Given the description of an element on the screen output the (x, y) to click on. 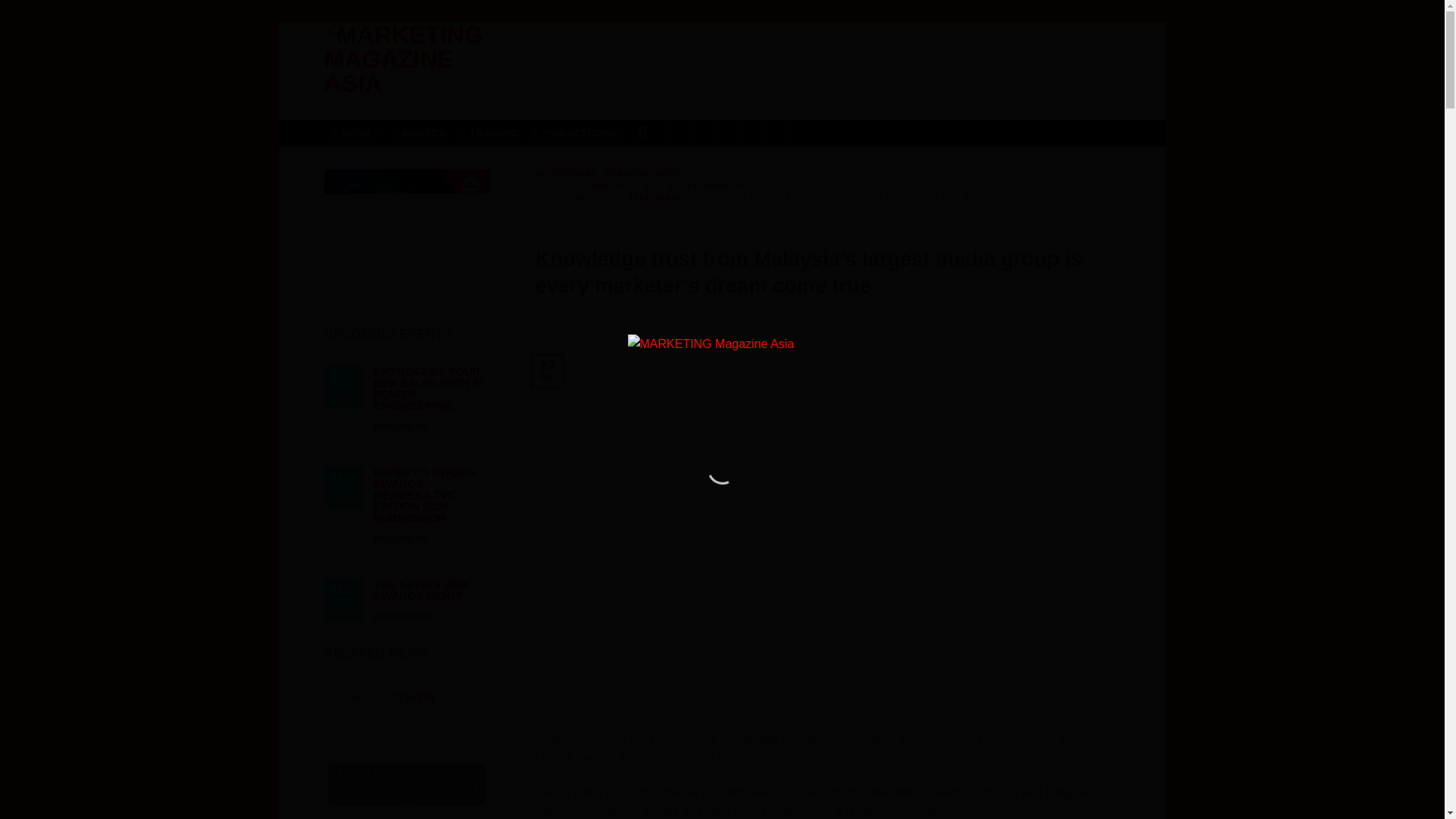
AWARDS (418, 133)
SKYROCKET YOUR B2B SALES WITH AI POWER ENGINEERING (427, 387)
The APPIES 2024 Awards Night (420, 589)
NEWS (354, 133)
TRAINING (488, 133)
THE APPIES 2024 AWARDS NIGHT (420, 589)
SKYROCKET YOUR B2B SALES WITH AI POWER ENGINEERING (427, 387)
PUBLICATIONS (577, 133)
